Given the description of an element on the screen output the (x, y) to click on. 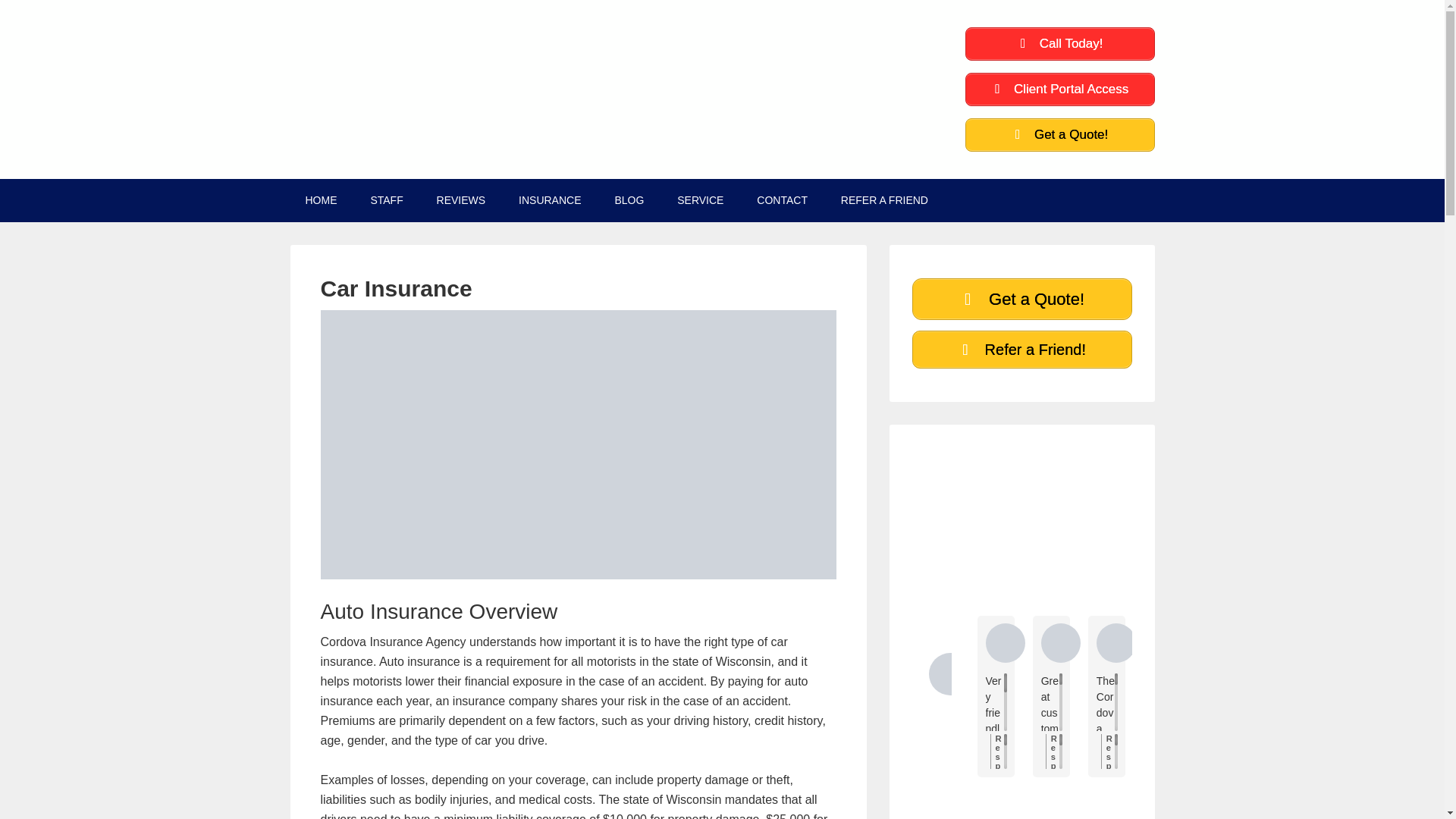
STAFF (386, 200)
Cordova Insurance Agency (949, 673)
Michelle E (1336, 642)
Janet Vander V. (1005, 642)
Client Portal Access (1058, 89)
Deb B. (1115, 642)
Get a Quote! (1058, 134)
Brock M. (1226, 642)
Jessica D. (1060, 642)
CORDOVA INSURANCE AGENCY, MERRILL, WI (402, 71)
BLOG (628, 200)
HOME (320, 200)
Trina D. (1171, 642)
Darrel D. (1281, 642)
Call Today! (1058, 43)
